Given the description of an element on the screen output the (x, y) to click on. 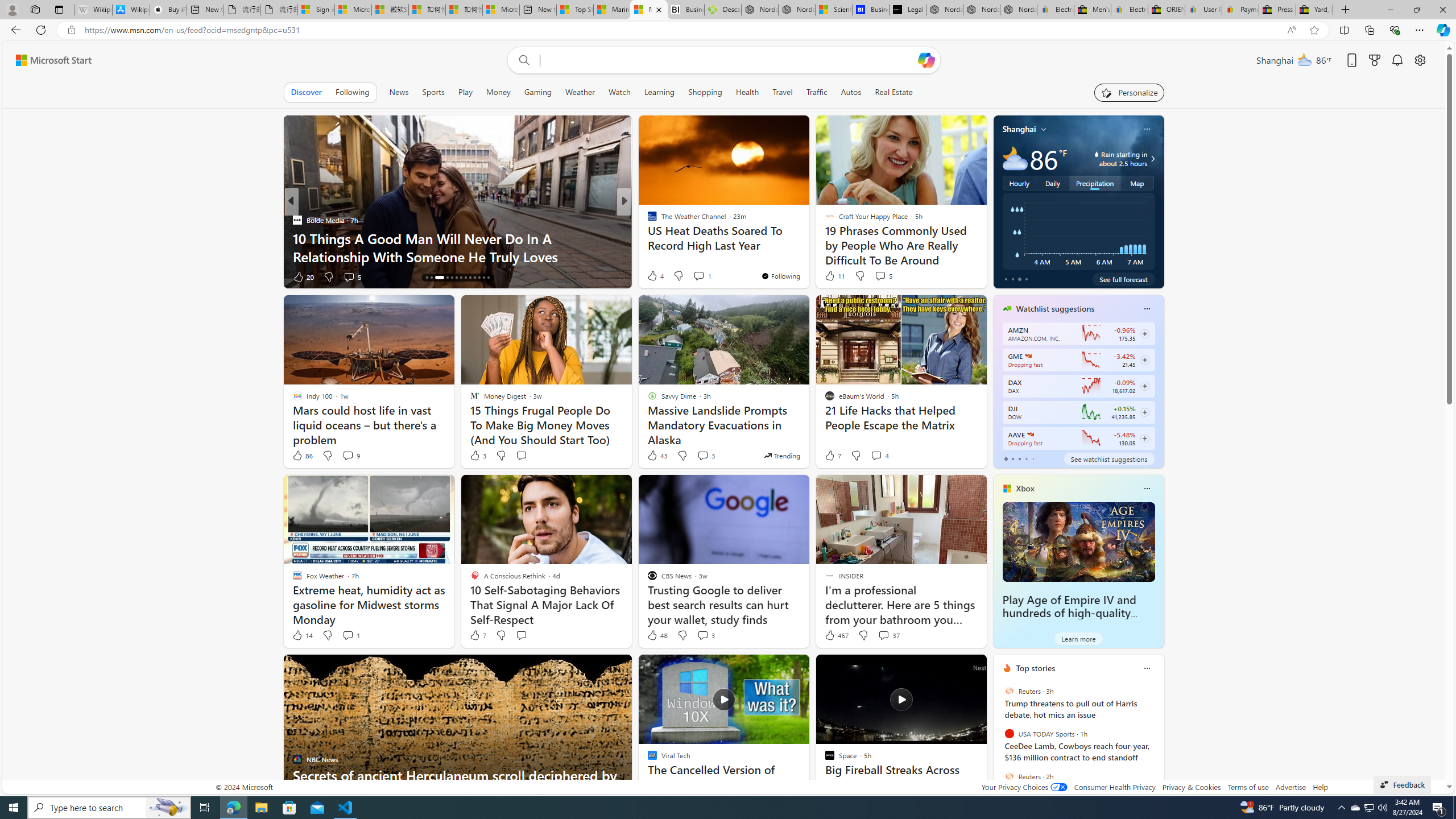
12 Like (652, 276)
43 Like (657, 455)
Descarga Driver Updater (721, 9)
Daily (1052, 183)
View comments 37 Comment (888, 634)
Aave (1029, 434)
311 Like (654, 276)
11 Like (834, 275)
Sports (432, 92)
MSNBC (647, 219)
Watchlist suggestions (1055, 308)
